Given the description of an element on the screen output the (x, y) to click on. 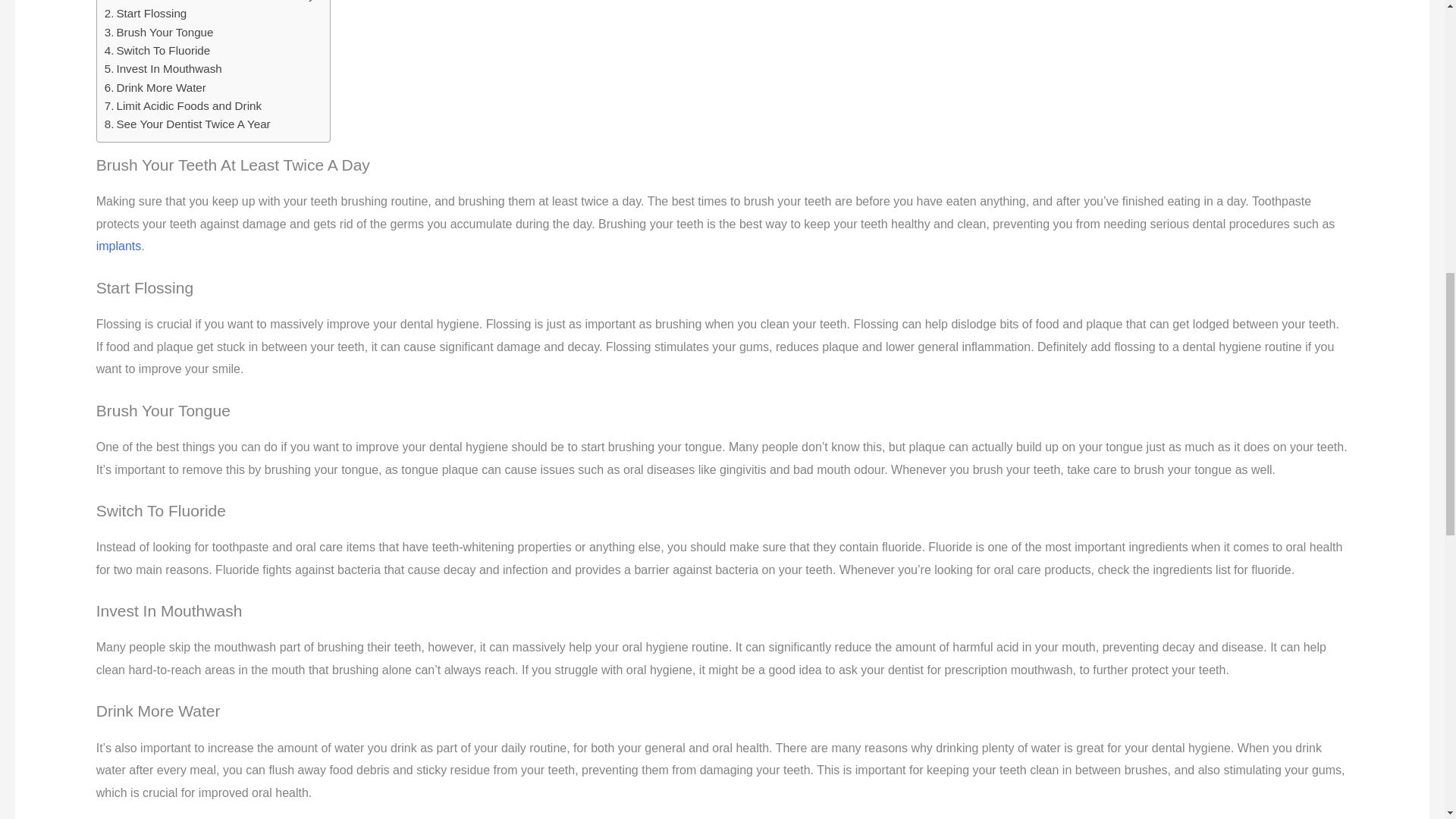
Switch To Fluoride (157, 50)
Limit Acidic Foods and Drink (183, 106)
Invest In Mouthwash (163, 68)
Drink More Water (155, 87)
Switch To Fluoride (157, 50)
Brush Your Teeth At Least Twice A Day (209, 2)
See Your Dentist Twice A Year (187, 124)
Start Flossing (145, 13)
Brush Your Tongue (159, 32)
See Your Dentist Twice A Year (187, 124)
Start Flossing (145, 13)
Limit Acidic Foods and Drink (183, 106)
Drink More Water (155, 87)
Brush Your Teeth At Least Twice A Day (209, 2)
Brush Your Tongue (159, 32)
